Given the description of an element on the screen output the (x, y) to click on. 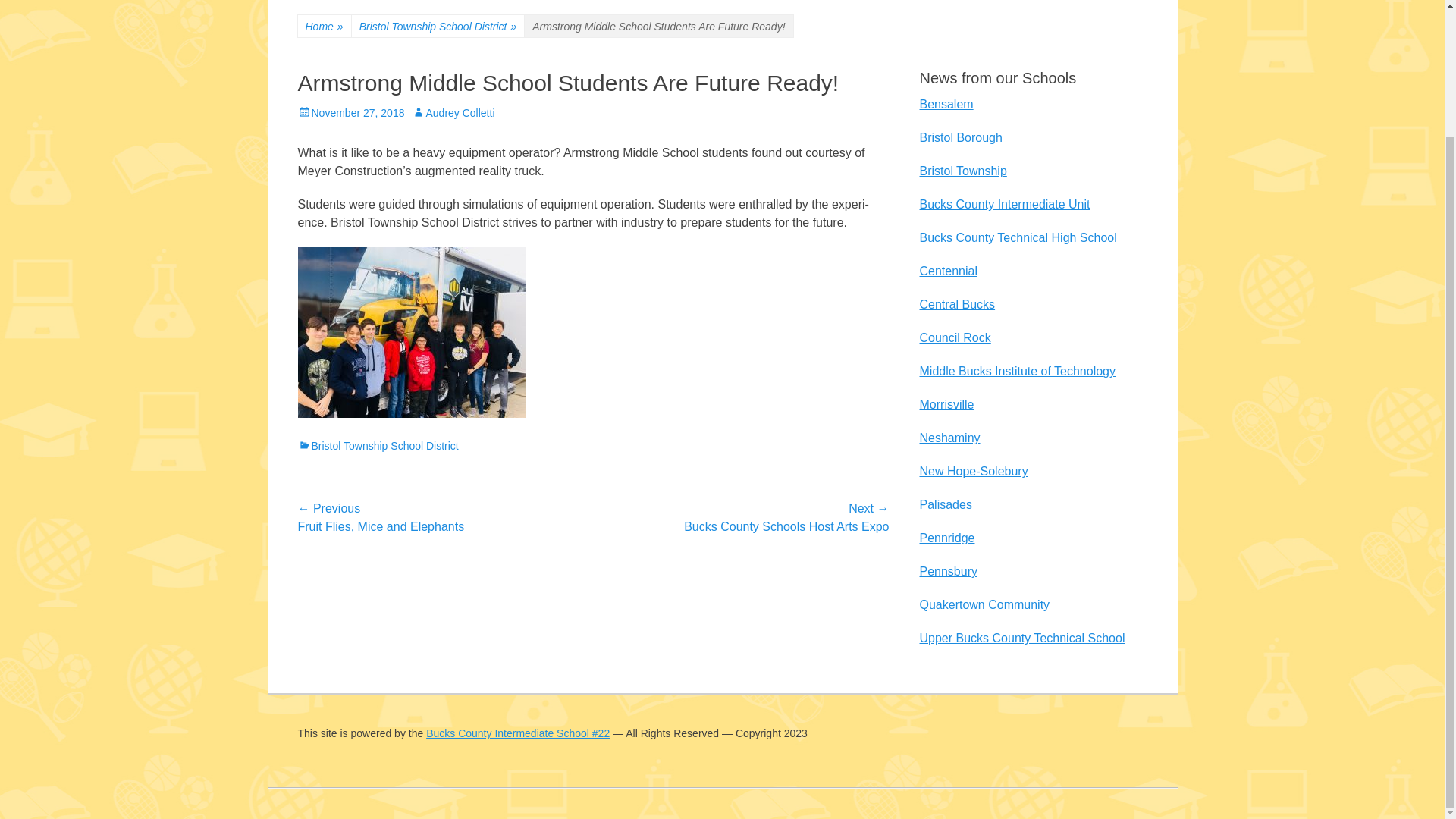
November 27, 2018 (350, 112)
Bucks County Intermediate Unit (1003, 204)
Central Bucks (956, 304)
Pennridge (946, 537)
Audrey Colletti (453, 112)
Bensalem (945, 103)
Bristol Borough (959, 137)
Council Rock (954, 337)
Pennsbury (947, 571)
Morrisville (946, 404)
Upper Bucks County Technical School (1021, 637)
Bristol Township (962, 170)
Bucks County Technical High School (1017, 237)
Palisades (944, 504)
Quakertown Community (983, 604)
